Given the description of an element on the screen output the (x, y) to click on. 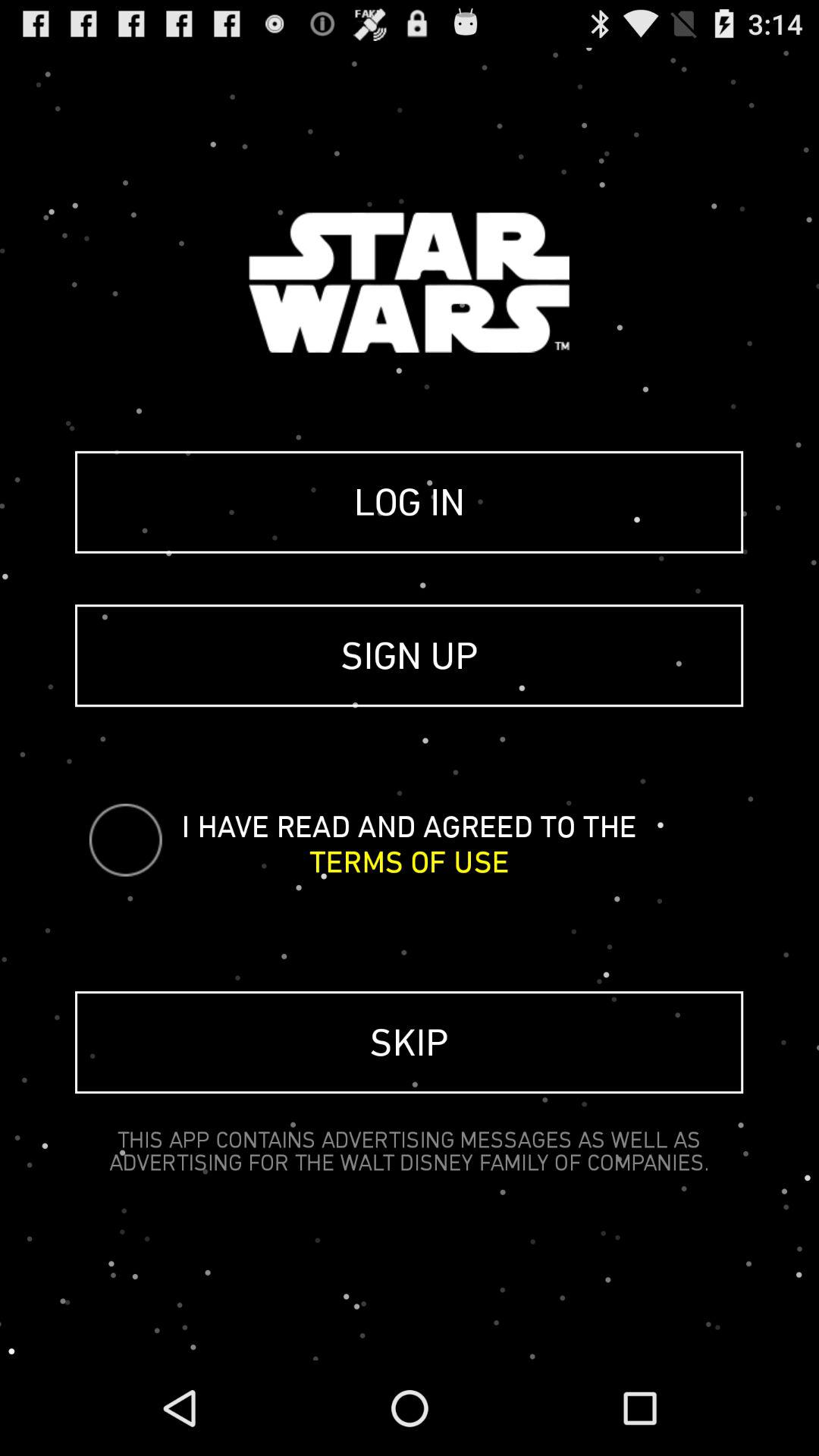
select the skip button (409, 1042)
